Given the description of an element on the screen output the (x, y) to click on. 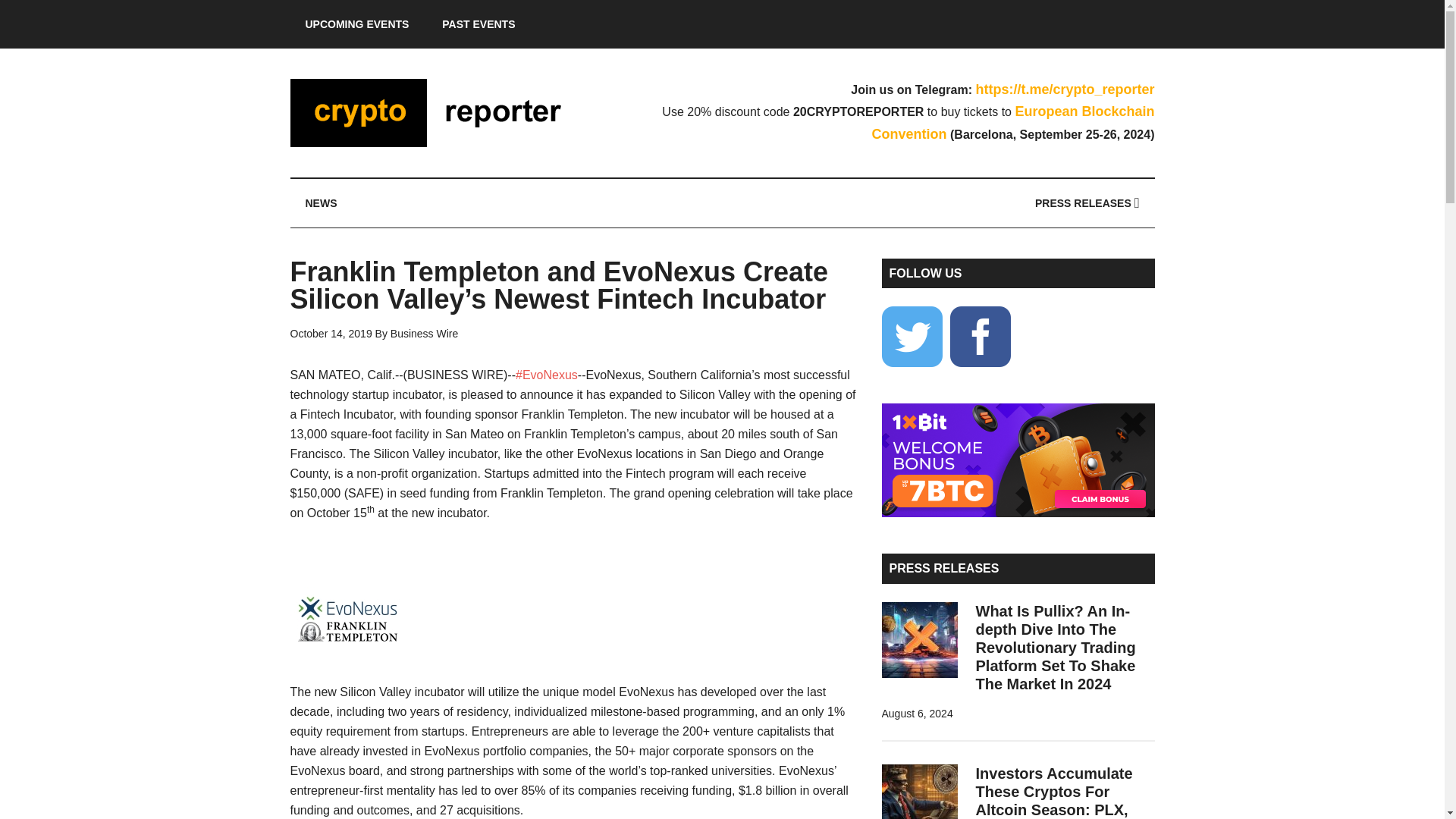
NEWS (320, 203)
UPCOMING EVENTS (356, 24)
European Blockchain Convention (1013, 122)
PAST EVENTS (477, 24)
Crypto Reporter (433, 112)
